Given the description of an element on the screen output the (x, y) to click on. 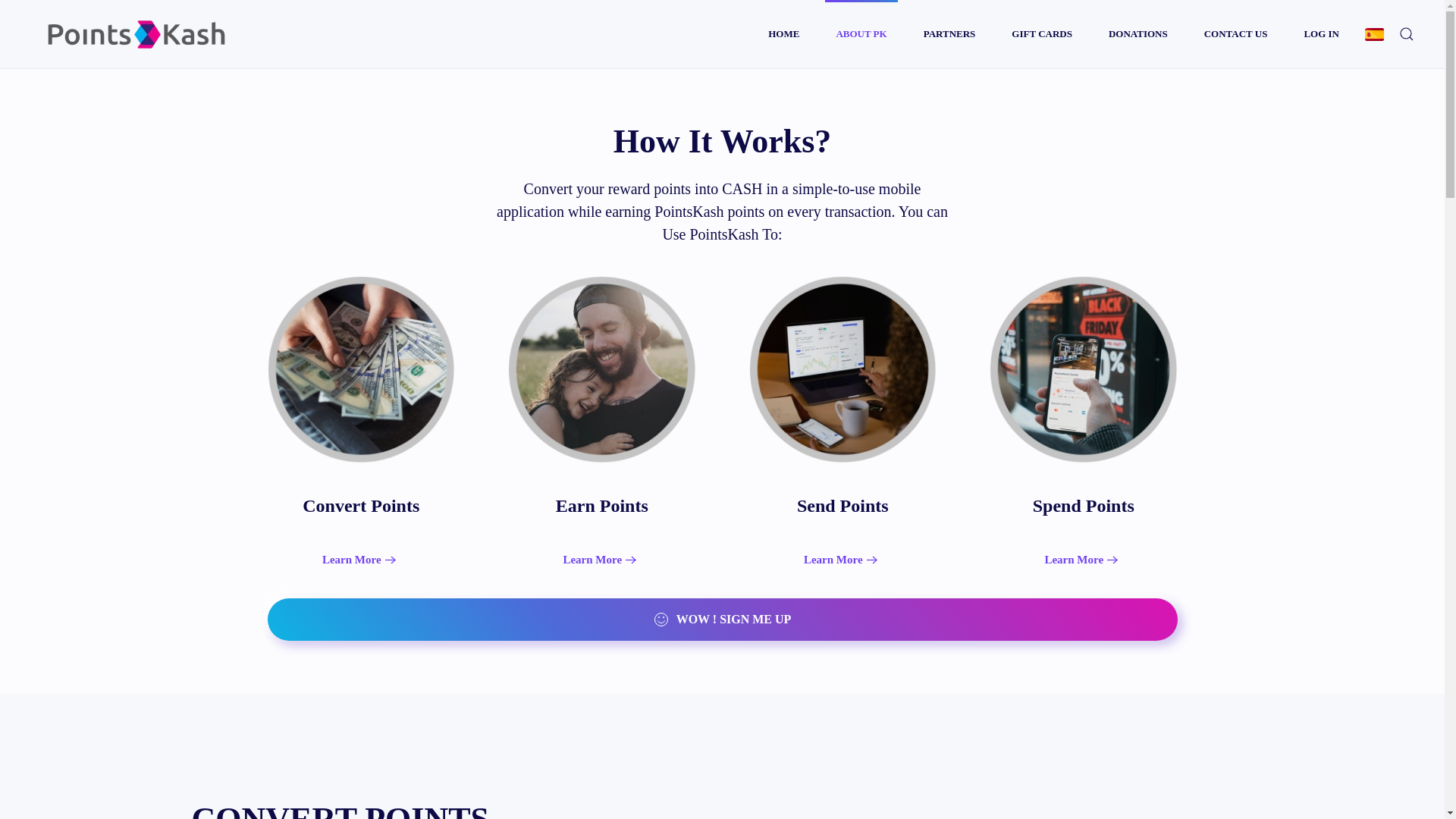
CONTACT US (1235, 33)
Learn More (842, 559)
GIFT CARDS (1042, 33)
Learn More (601, 559)
PARTNERS (949, 33)
ABOUT PK (860, 33)
CONVERT POINTS (721, 809)
Learn More (360, 559)
DONATIONS (1137, 33)
